Given the description of an element on the screen output the (x, y) to click on. 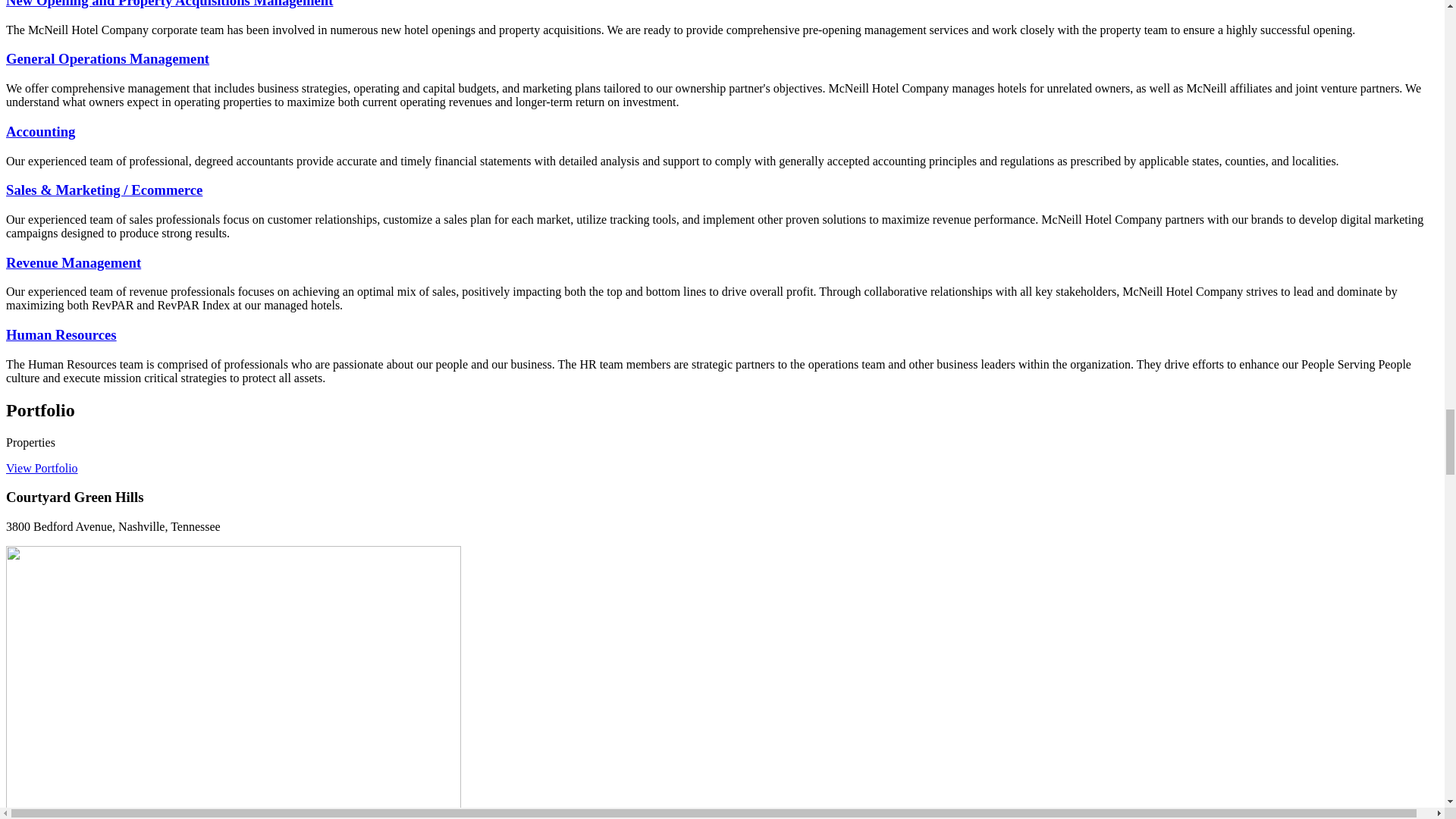
Human Resources (60, 334)
Accounting (40, 131)
General Operations Management (107, 58)
View Portfolio (41, 468)
Revenue Management (73, 262)
New Opening and Property Acquisitions Management (169, 4)
